Given the description of an element on the screen output the (x, y) to click on. 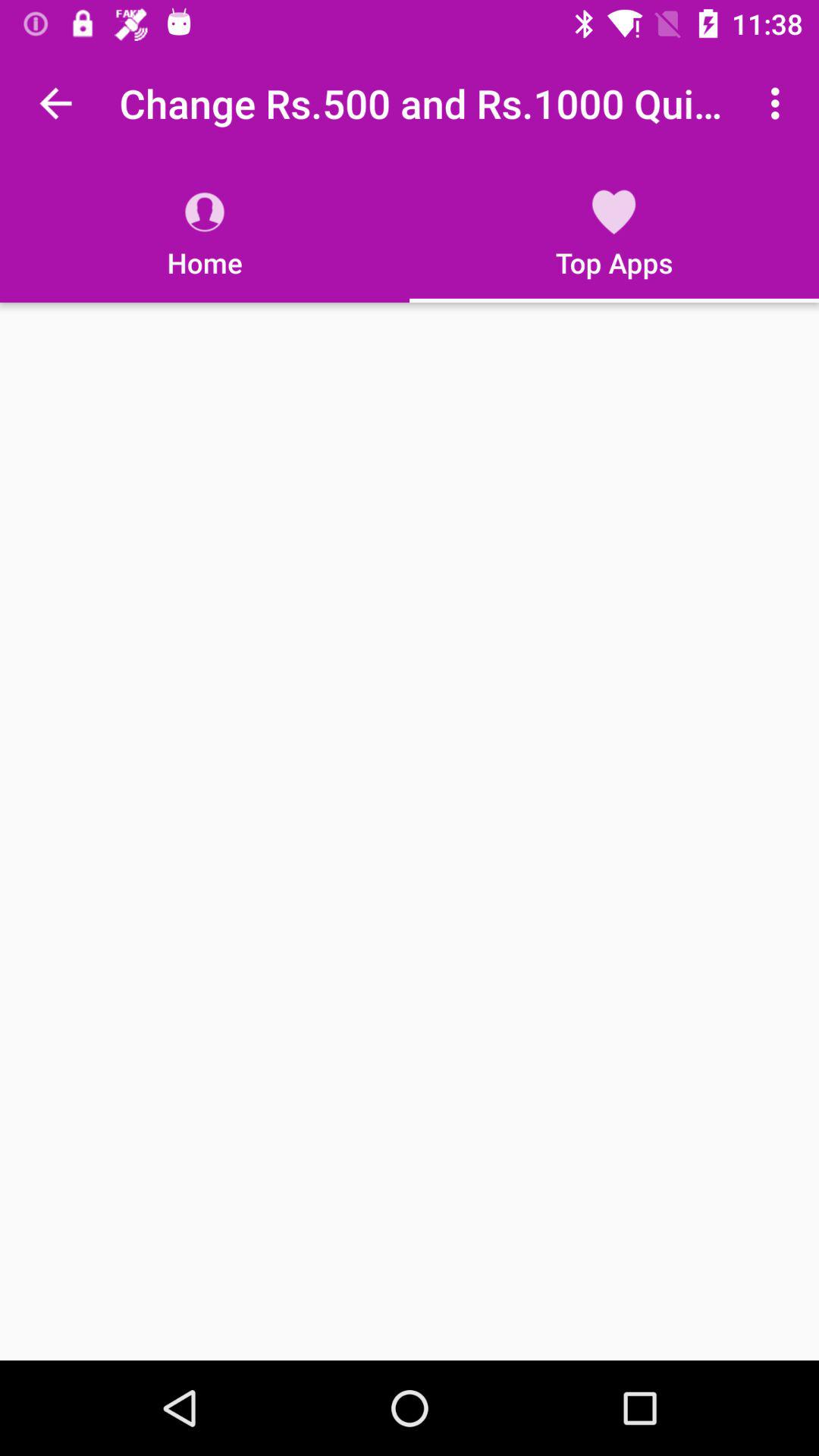
choose the app next to change rs 500 icon (55, 103)
